Given the description of an element on the screen output the (x, y) to click on. 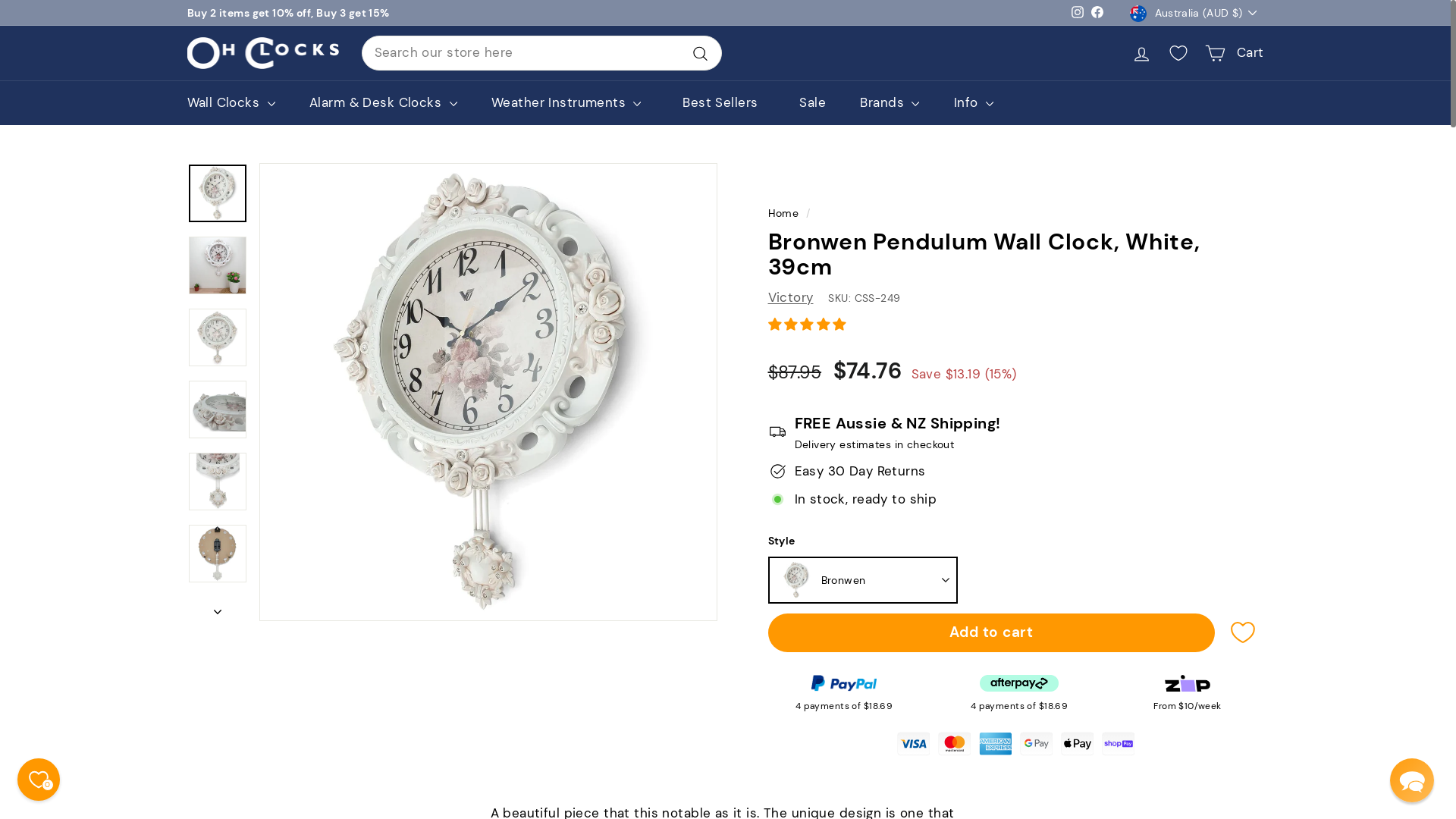
0 Element type: text (38, 779)
Australia (AUD $) Element type: text (1196, 12)
icon-chevron Element type: text (216, 607)
Cart Element type: text (1234, 52)
Victory Element type: text (789, 296)
Add to cart Element type: text (990, 632)
Submit Element type: text (31, 17)
Facebook Element type: text (1097, 12)
trust-badges-widget Element type: hover (1015, 739)
Home Element type: text (782, 212)
instagram
Instagram Element type: text (1077, 12)
